Given the description of an element on the screen output the (x, y) to click on. 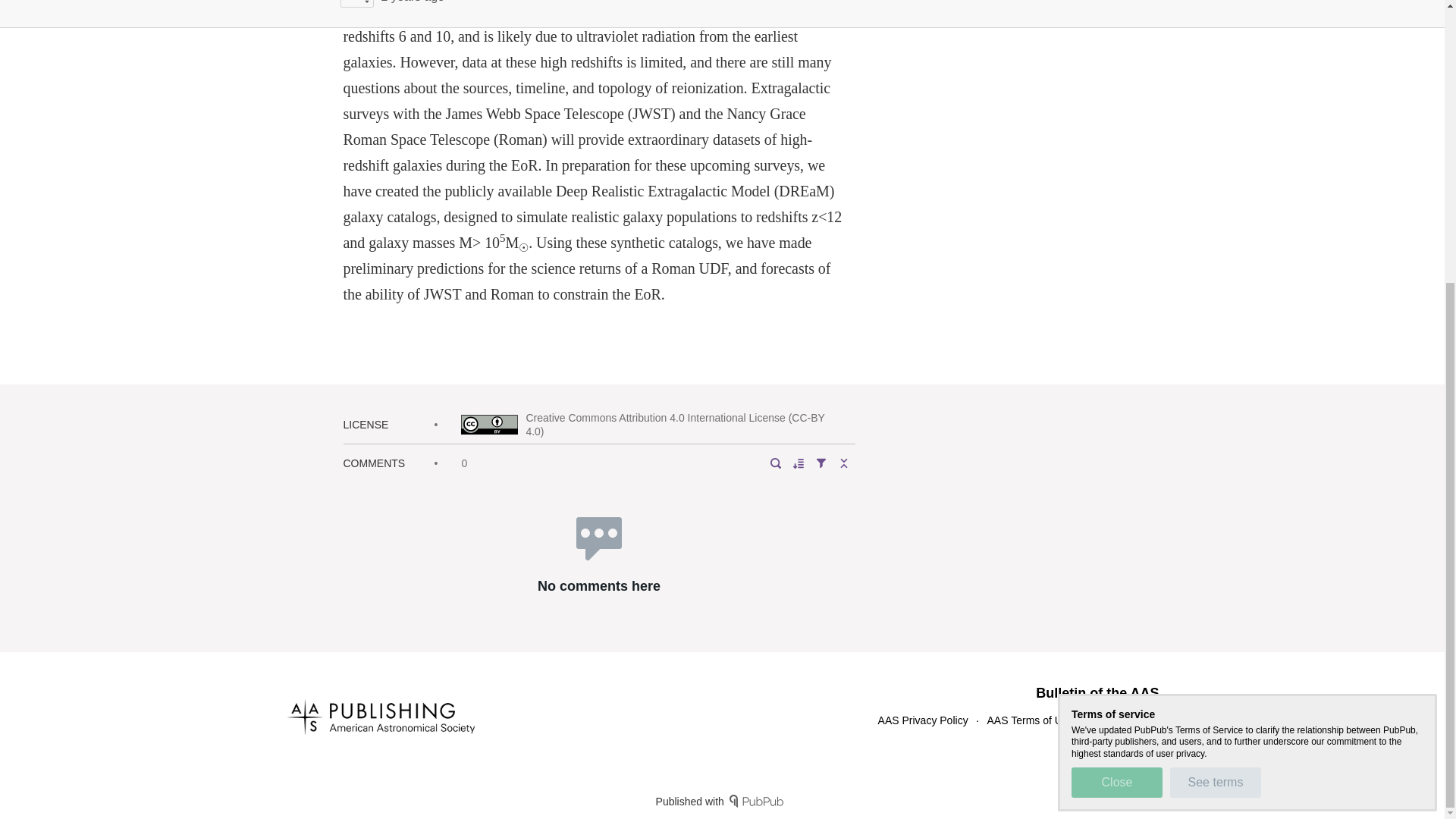
RSS (1104, 720)
Close (1116, 358)
AAS Privacy Policy (922, 720)
See terms (1215, 358)
Bulletin of the AAS (1096, 693)
Legal (1145, 720)
AAS Terms of Use (1030, 720)
